Given the description of an element on the screen output the (x, y) to click on. 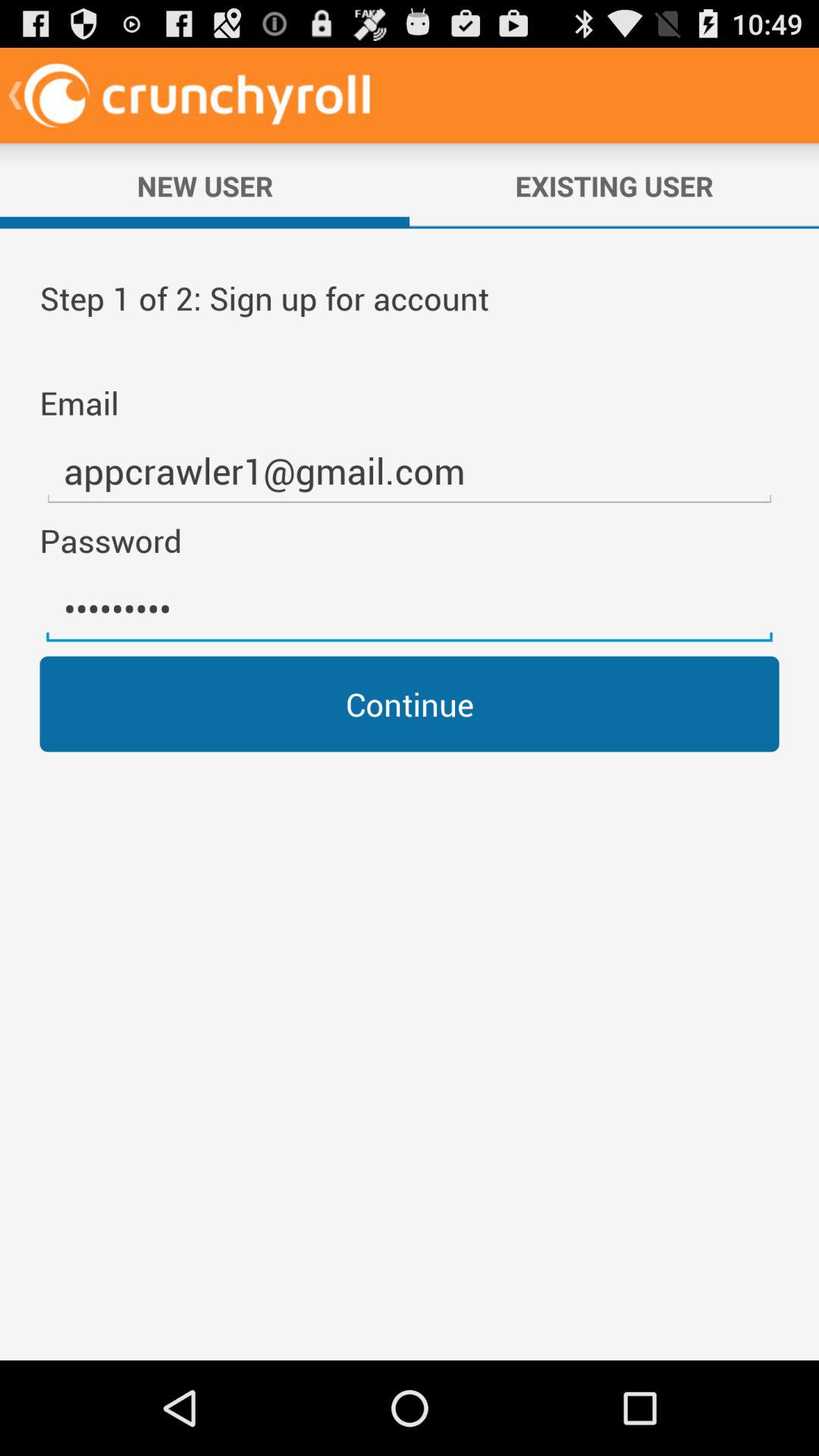
jump until the existing user icon (614, 185)
